Given the description of an element on the screen output the (x, y) to click on. 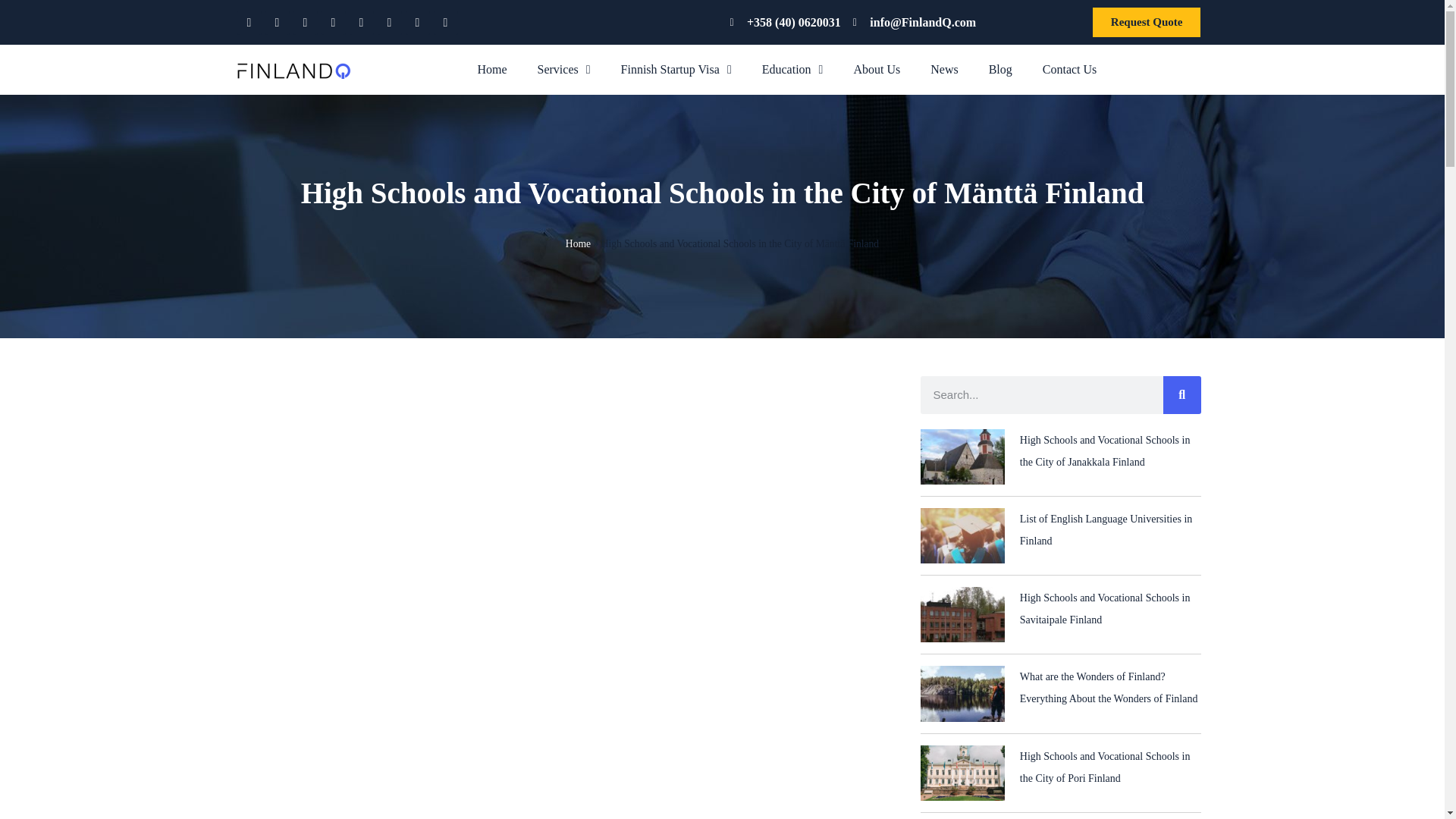
Home (491, 69)
About Us (876, 69)
Finnish Startup Visa (675, 69)
Contact Us (1069, 69)
Services (563, 69)
Request Quote (1147, 21)
Blog (1000, 69)
Education (792, 69)
finlandq (292, 70)
News (943, 69)
